Given the description of an element on the screen output the (x, y) to click on. 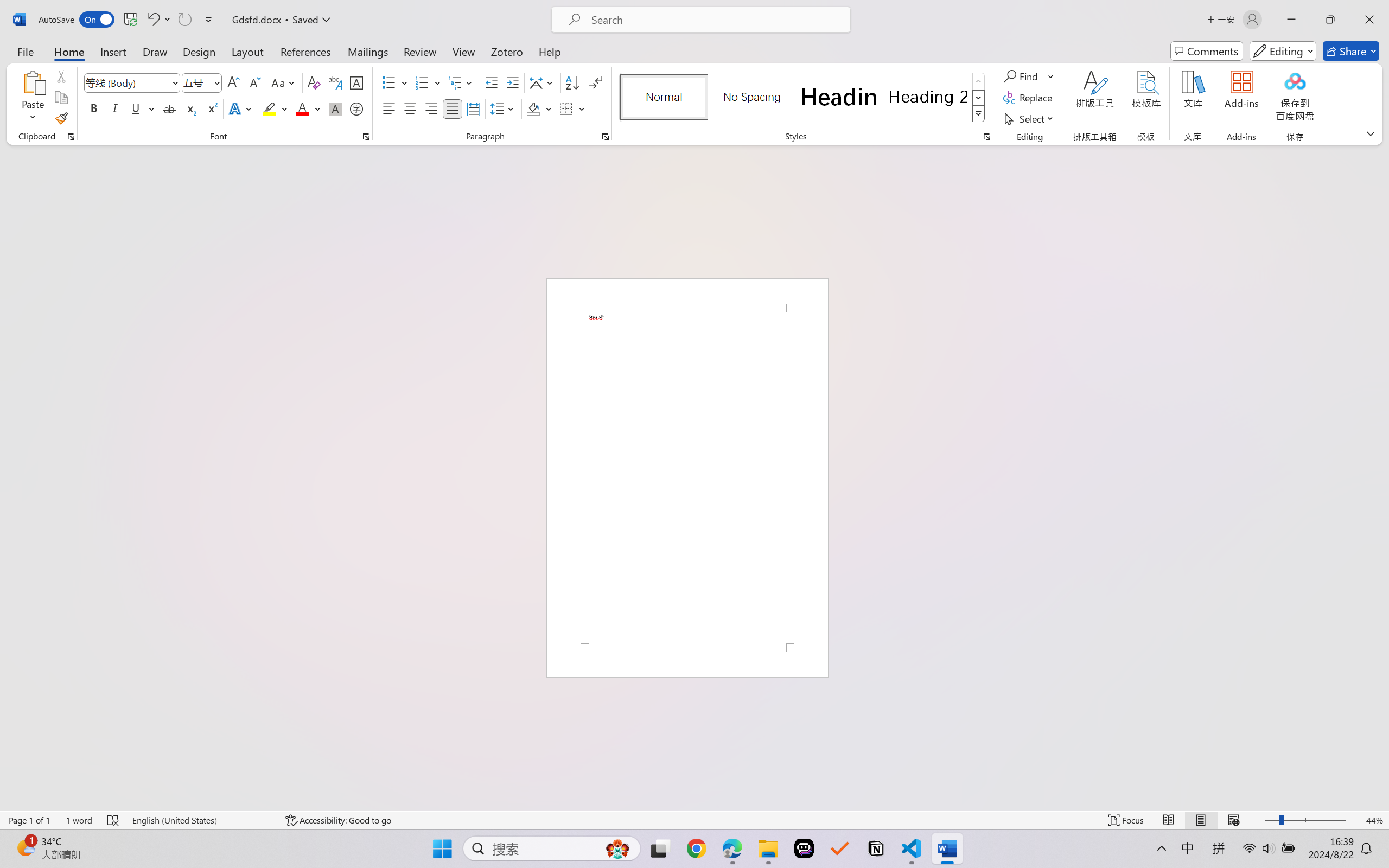
Microsoft search (715, 19)
Page 1 content (686, 477)
